Given the description of an element on the screen output the (x, y) to click on. 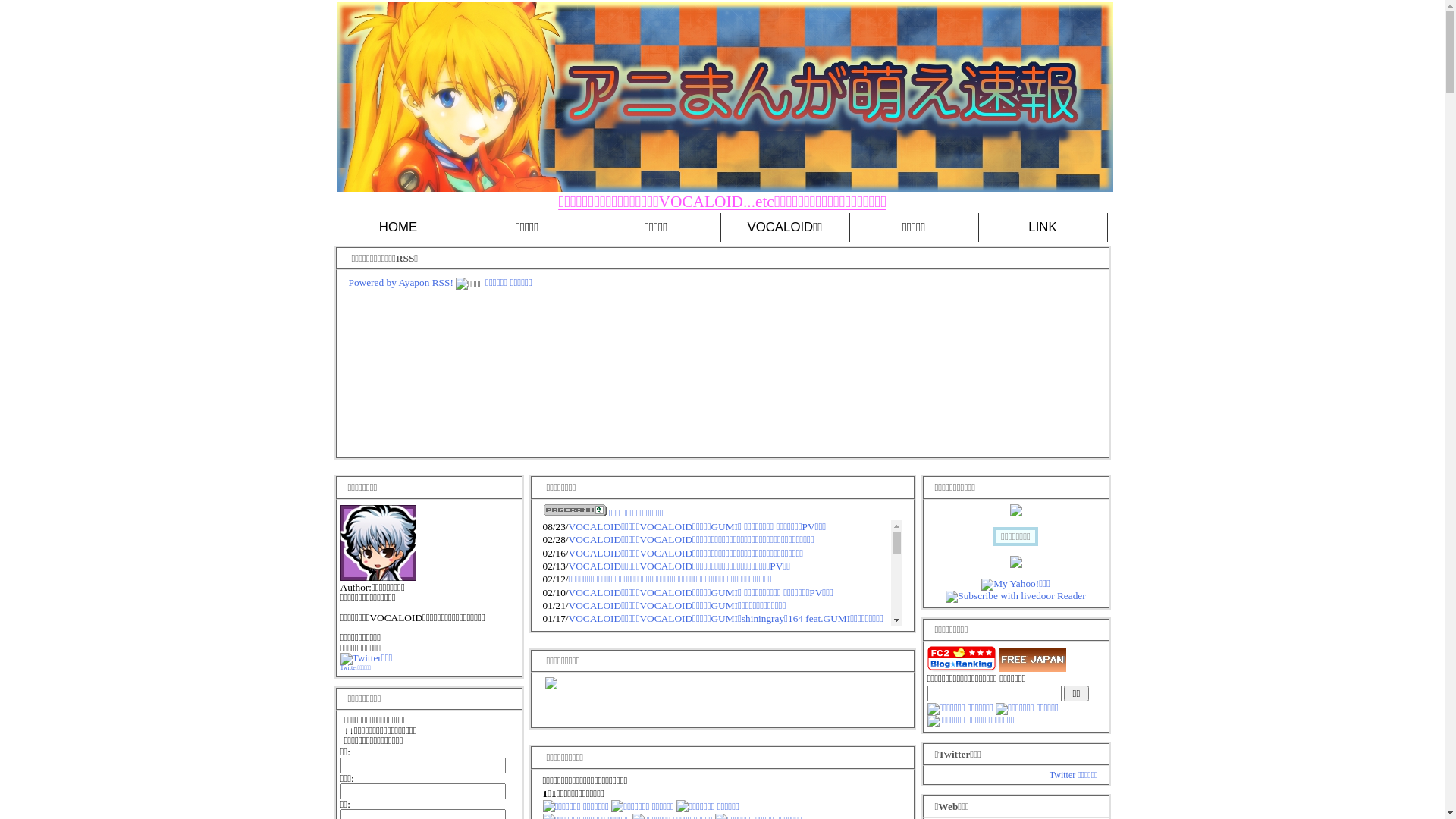
Subscribe with livedoor Reader Element type: hover (1015, 595)
HOME Element type: text (397, 227)
LINK Element type: text (1042, 227)
Powered by Ayapon RSS! Element type: text (400, 282)
